Given the description of an element on the screen output the (x, y) to click on. 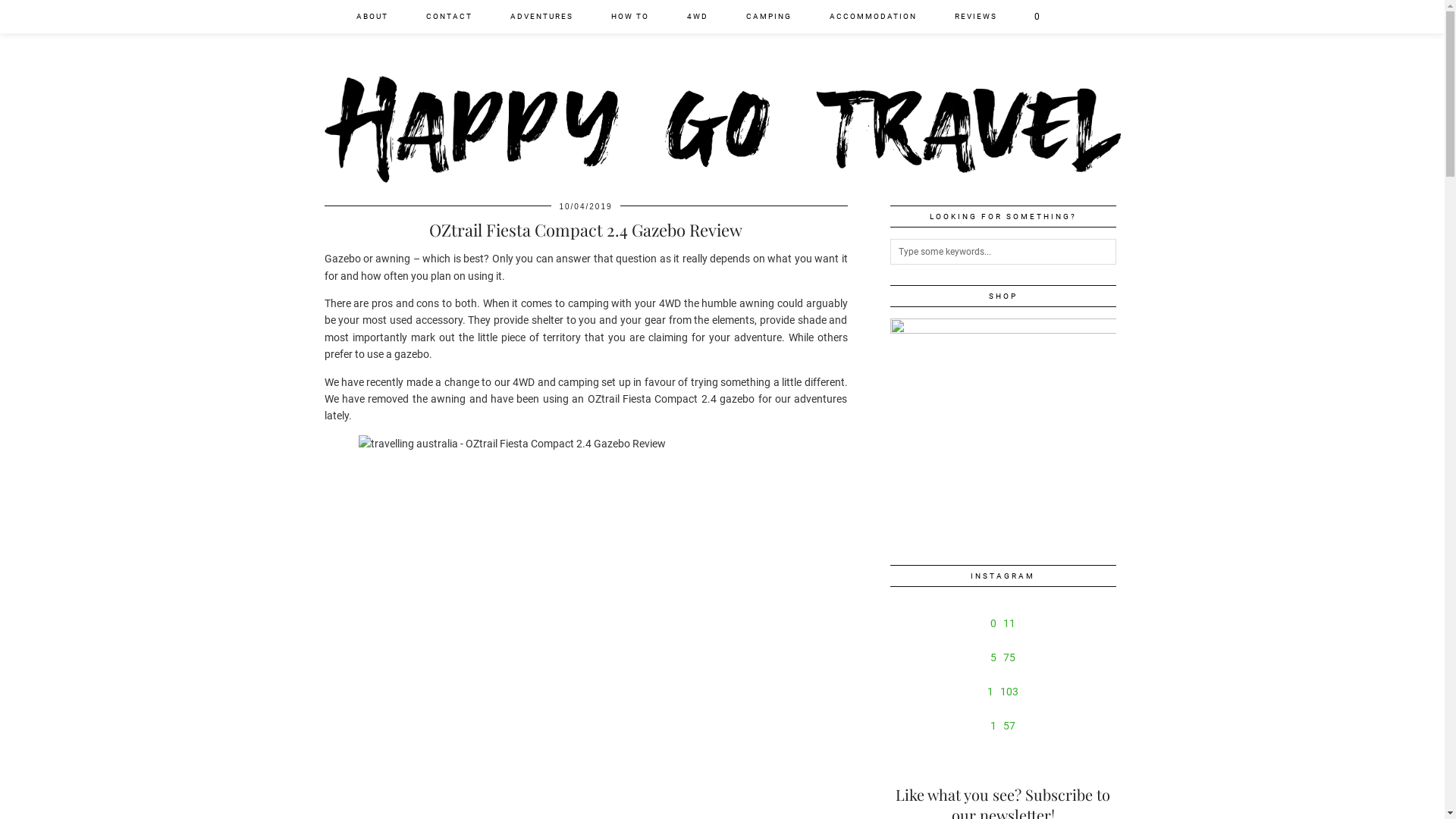
1   57 Element type: text (1003, 724)
ADVENTURES Element type: text (541, 16)
0   11 Element type: text (1003, 623)
CAMPING Element type: text (767, 16)
CONTACT Element type: text (448, 16)
1   103 Element type: text (1003, 690)
Happy Go Travel Element type: hover (722, 91)
5   75 Element type: text (1003, 657)
0 Element type: text (1037, 16)
ACCOMMODATION Element type: text (872, 16)
ABOUT Element type: text (371, 16)
REVIEWS Element type: text (975, 16)
4WD Element type: text (696, 16)
HOW TO Element type: text (629, 16)
